Given the description of an element on the screen output the (x, y) to click on. 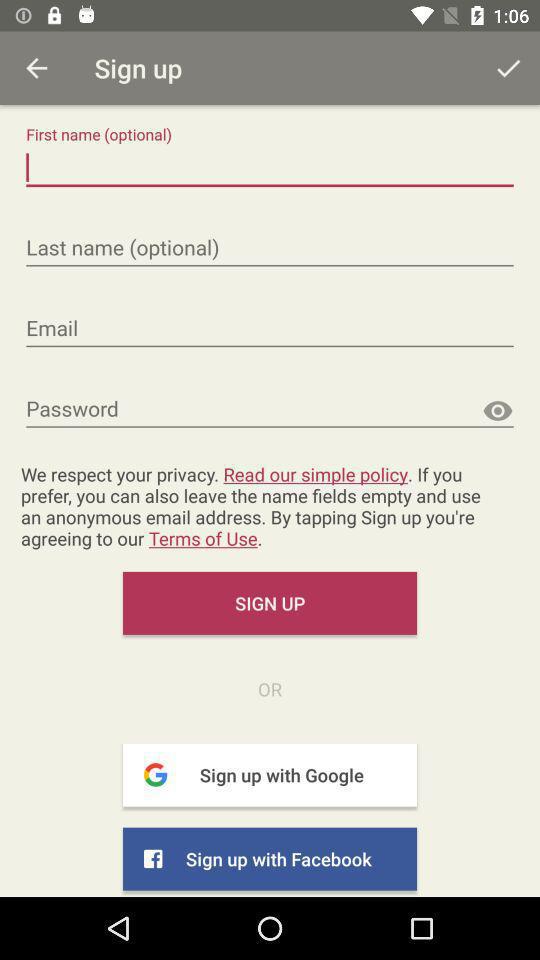
go back (36, 68)
